Given the description of an element on the screen output the (x, y) to click on. 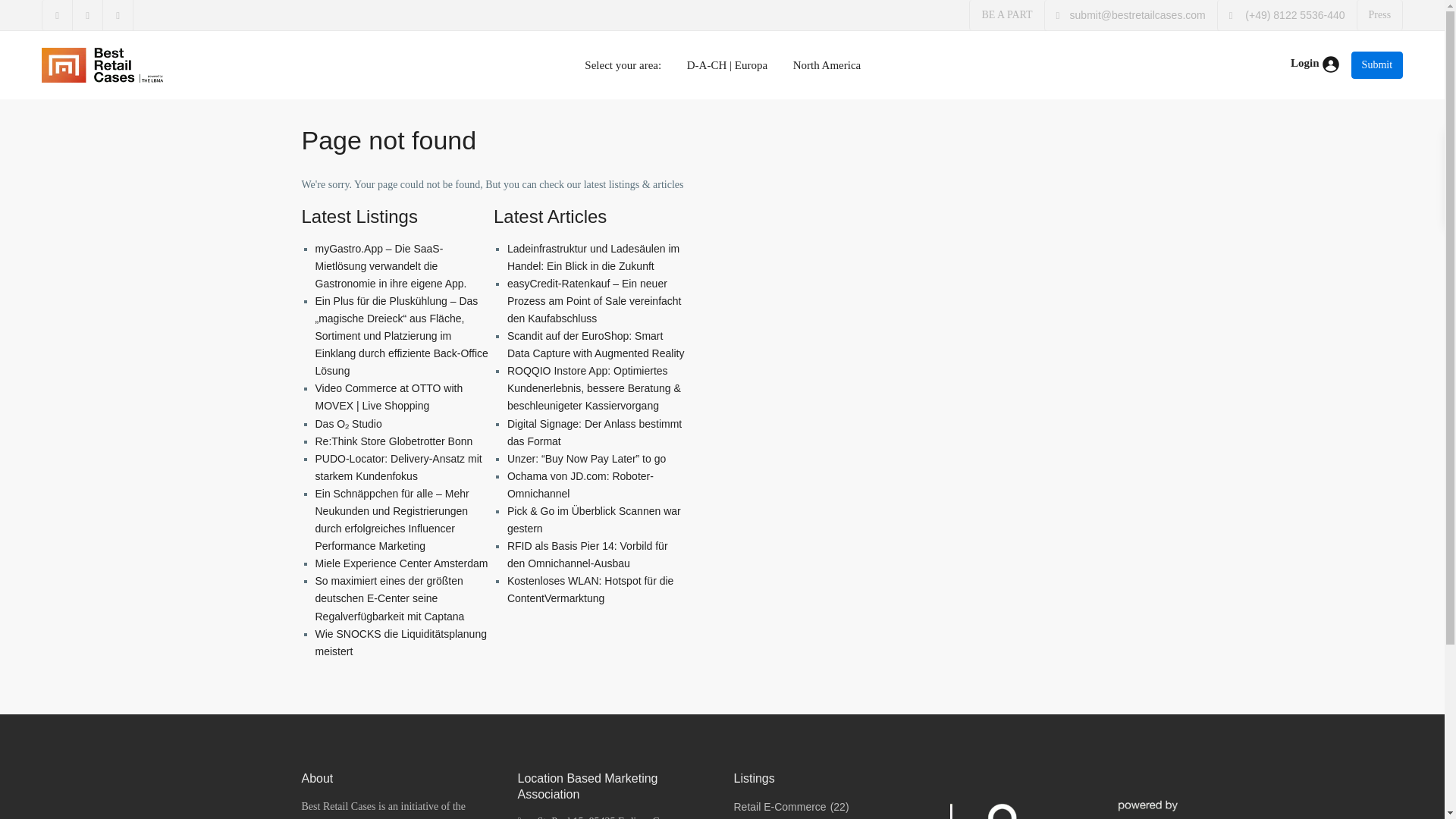
Re:Think Store Globetrotter Bonn (394, 440)
PUDO-Locator: Delivery-Ansatz mit starkem Kundenfokus (398, 467)
Submit (1377, 64)
BE A PART (1006, 14)
Miele Experience Center Amsterdam (401, 563)
North America (826, 65)
Select your area: (622, 65)
